Given the description of an element on the screen output the (x, y) to click on. 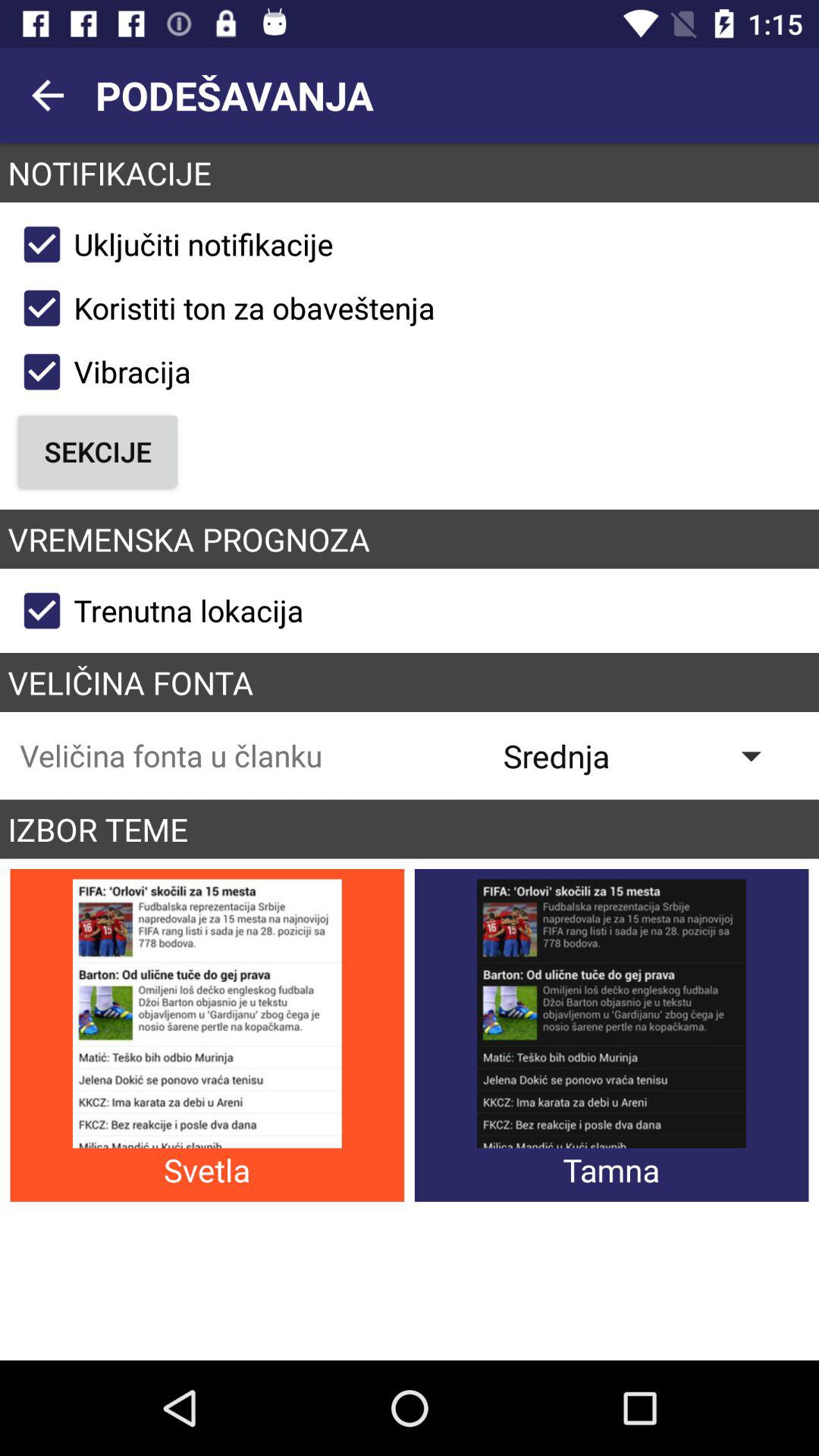
select icon below vibracija checkbox (97, 451)
